Given the description of an element on the screen output the (x, y) to click on. 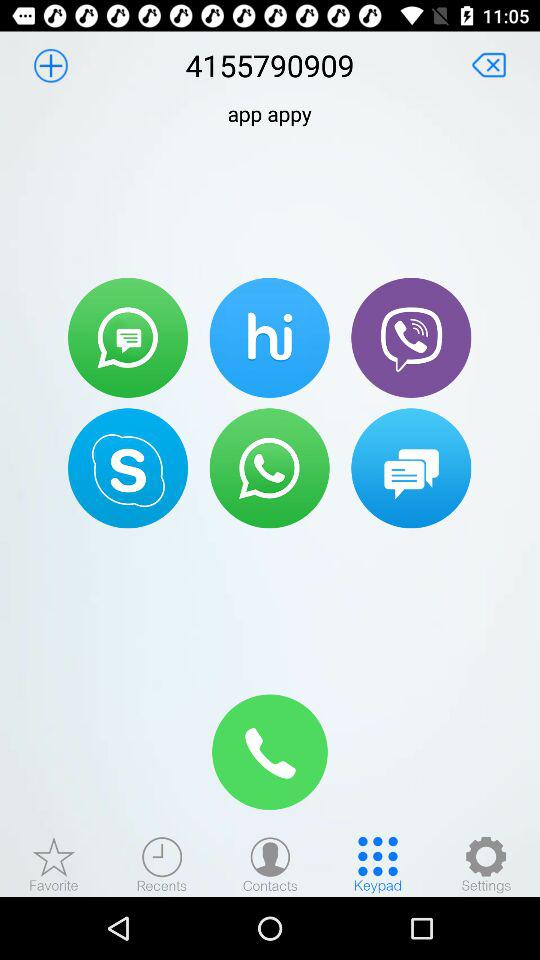
go to favorite contacts (53, 864)
